Given the description of an element on the screen output the (x, y) to click on. 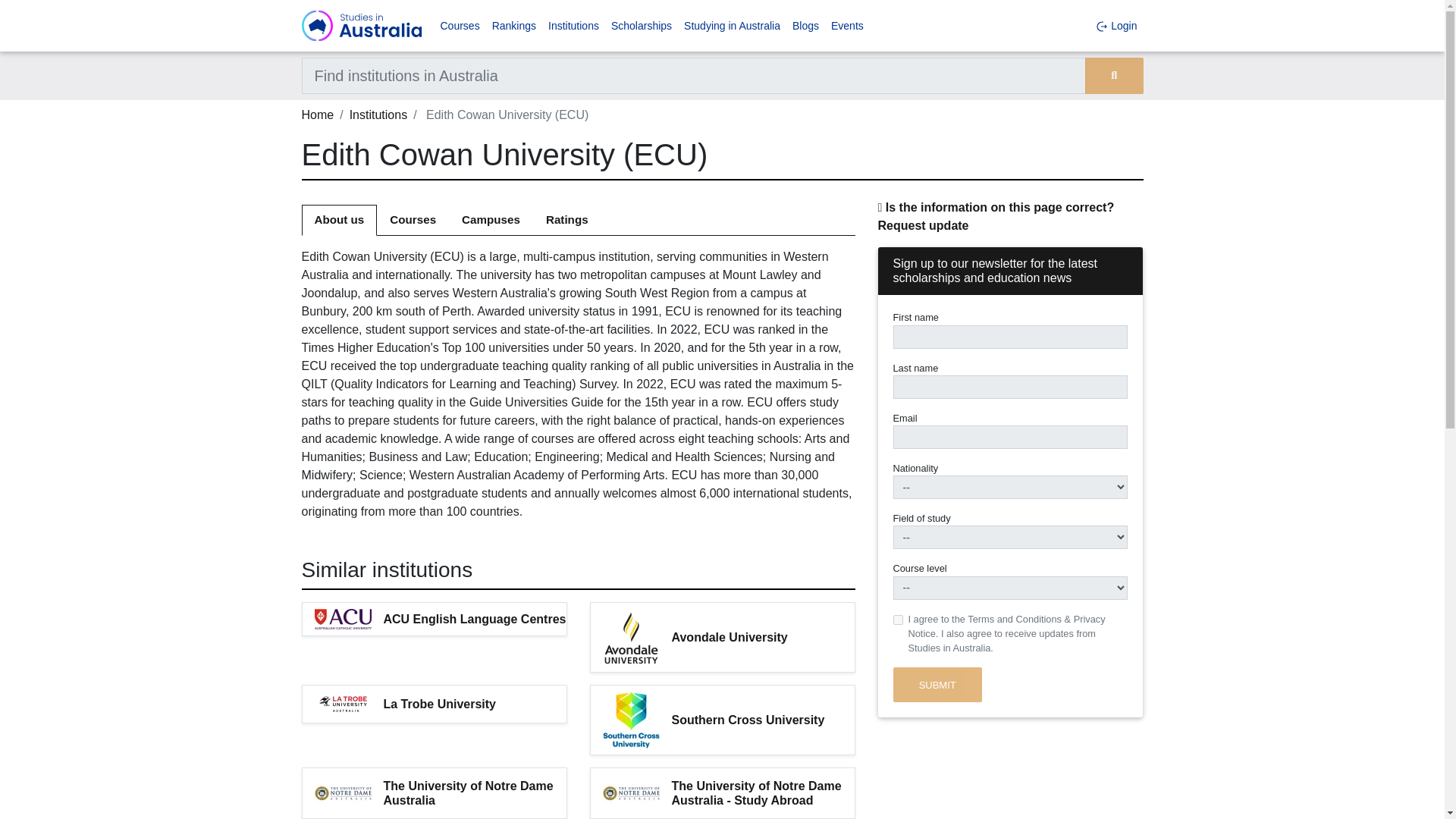
Institutions (573, 25)
Rankings (513, 25)
Campuses (490, 219)
La Trobe University (475, 703)
Southern Cross University (762, 719)
Ratings (566, 219)
Scholarships (641, 25)
About us (339, 219)
Avondale University (762, 636)
Blogs (805, 25)
Institutions (378, 114)
Courses (458, 25)
Is the information on this page correct? Request update (996, 215)
SUBMIT (937, 684)
Home (317, 114)
